Given the description of an element on the screen output the (x, y) to click on. 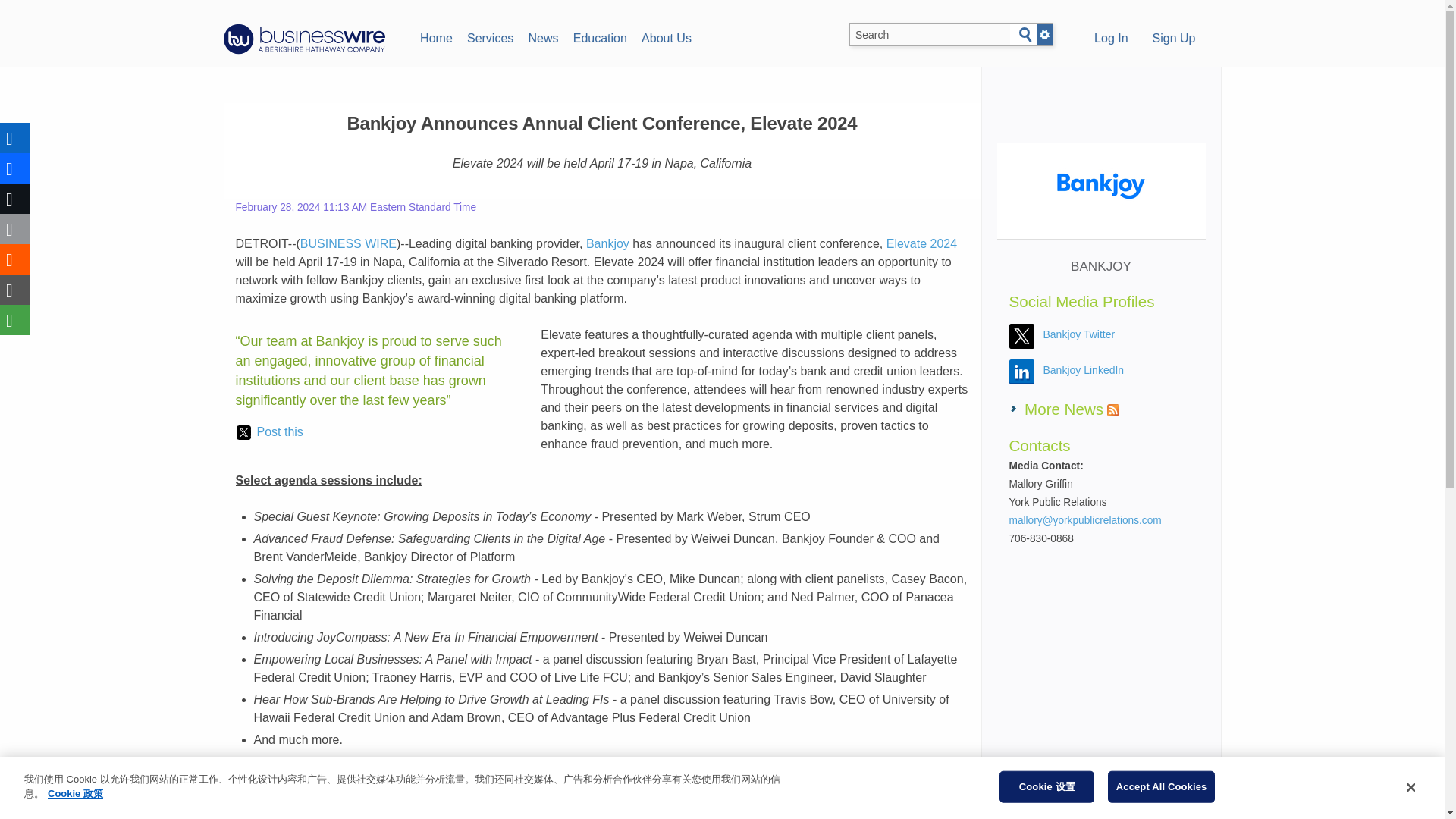
Search BusinessWire.com (930, 34)
Reddit (15, 259)
Elevate 2024 (921, 243)
More Options (15, 319)
Search (1025, 34)
Services (490, 36)
Bankjoy LinkedIn (1083, 369)
Facebook (15, 168)
Post this (269, 431)
Bankjoy Twitter (1079, 334)
